Given the description of an element on the screen output the (x, y) to click on. 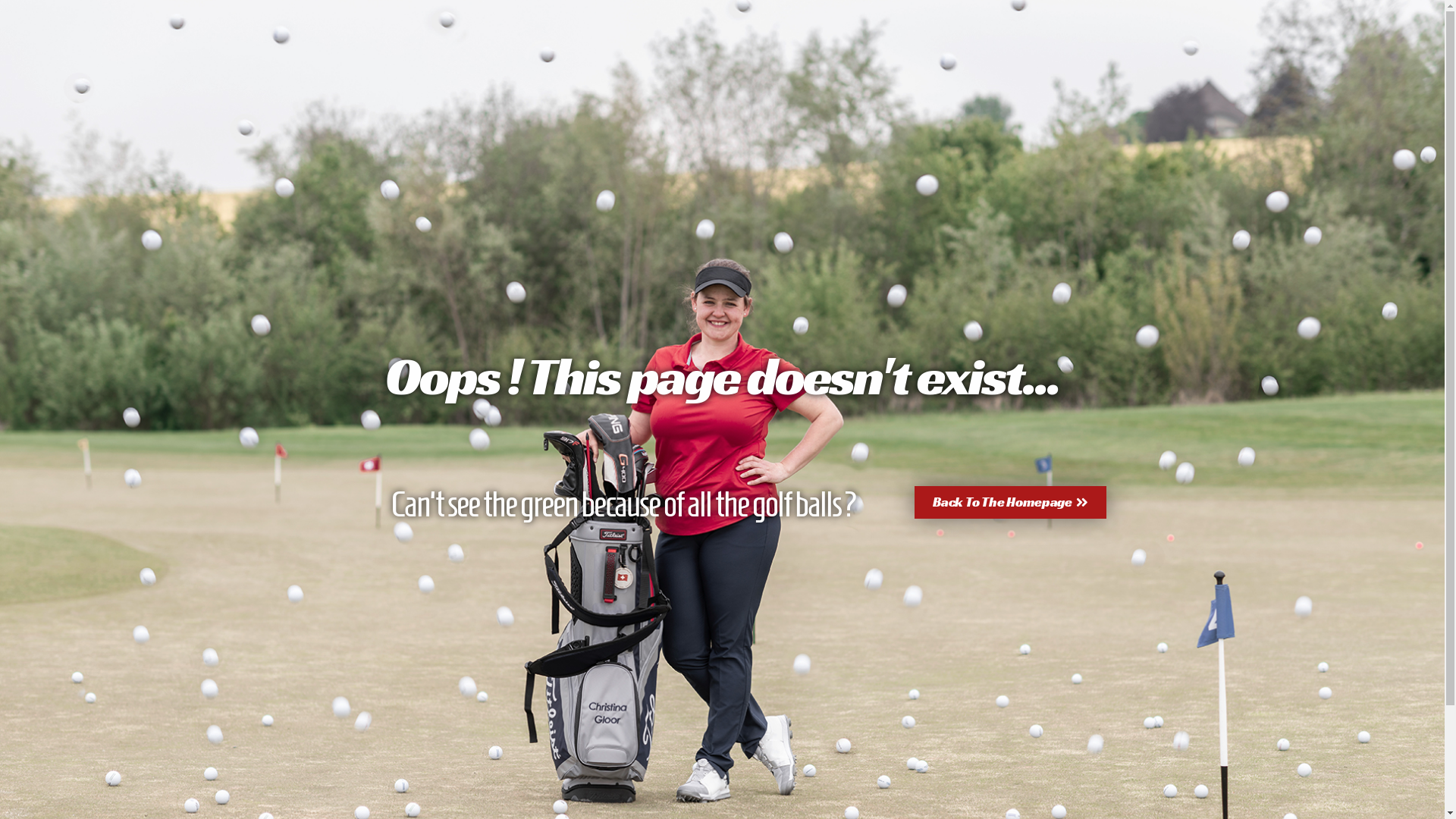
Back To The Homepage Element type: text (1009, 502)
